Given the description of an element on the screen output the (x, y) to click on. 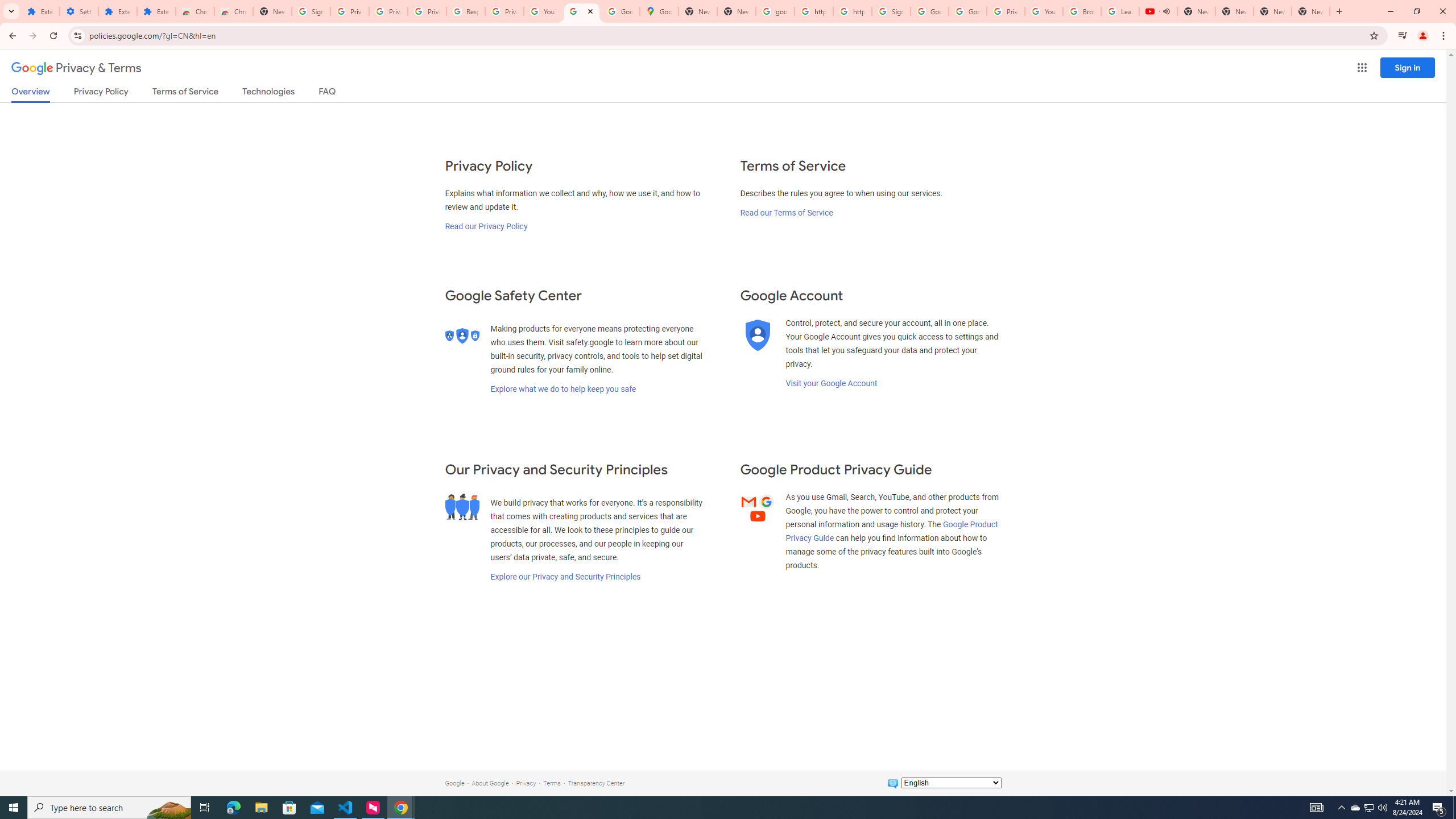
Sign in (1407, 67)
Visit your Google Account (830, 383)
Google apps (1362, 67)
Sign in - Google Accounts (310, 11)
New Tab (272, 11)
Terms of Service (184, 93)
Technologies (268, 93)
Settings (79, 11)
Chrome Web Store (194, 11)
